Given the description of an element on the screen output the (x, y) to click on. 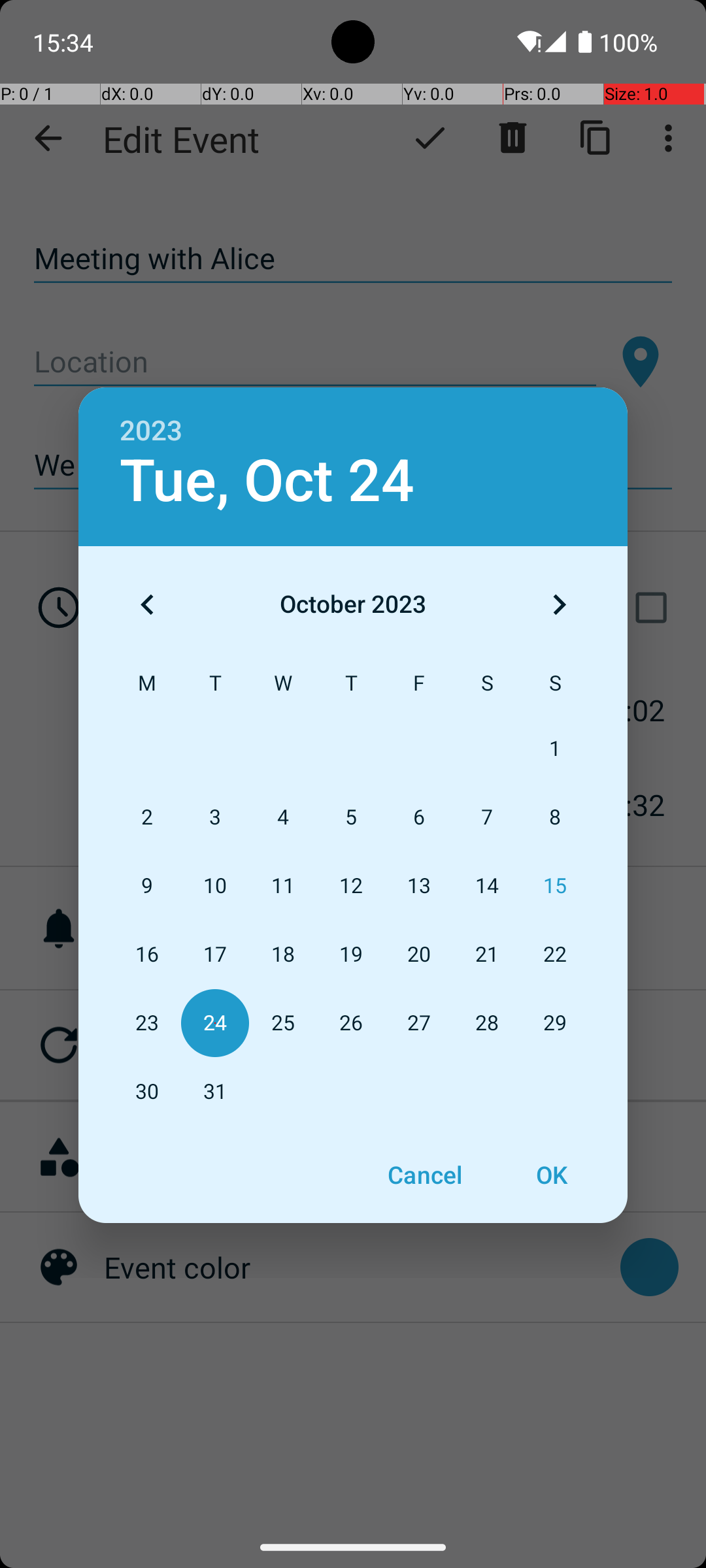
Tue, Oct 24 Element type: android.widget.TextView (267, 480)
